Given the description of an element on the screen output the (x, y) to click on. 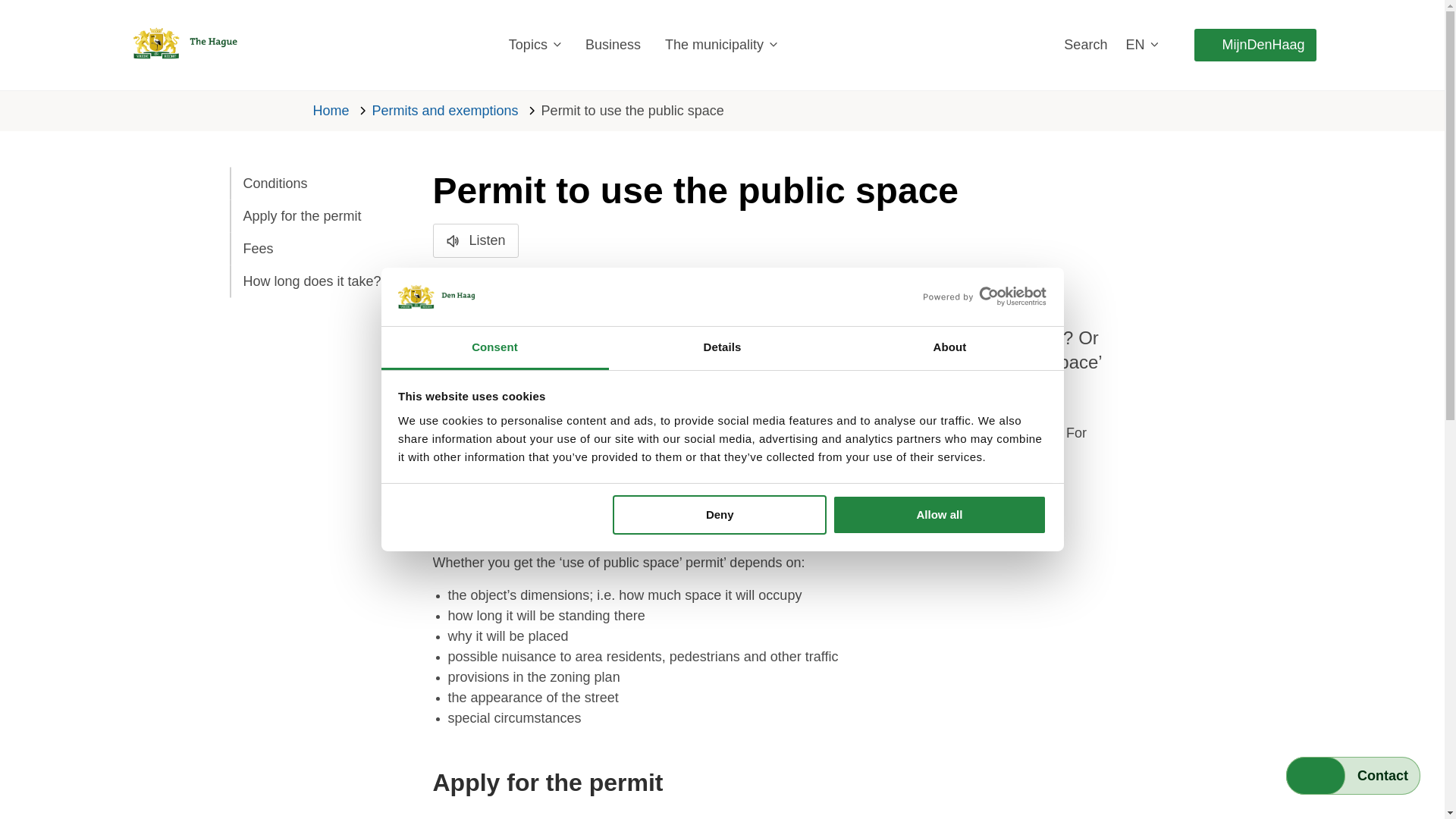
Onderwerpen (534, 44)
Consent (494, 348)
About (948, 348)
Details (721, 348)
